Given the description of an element on the screen output the (x, y) to click on. 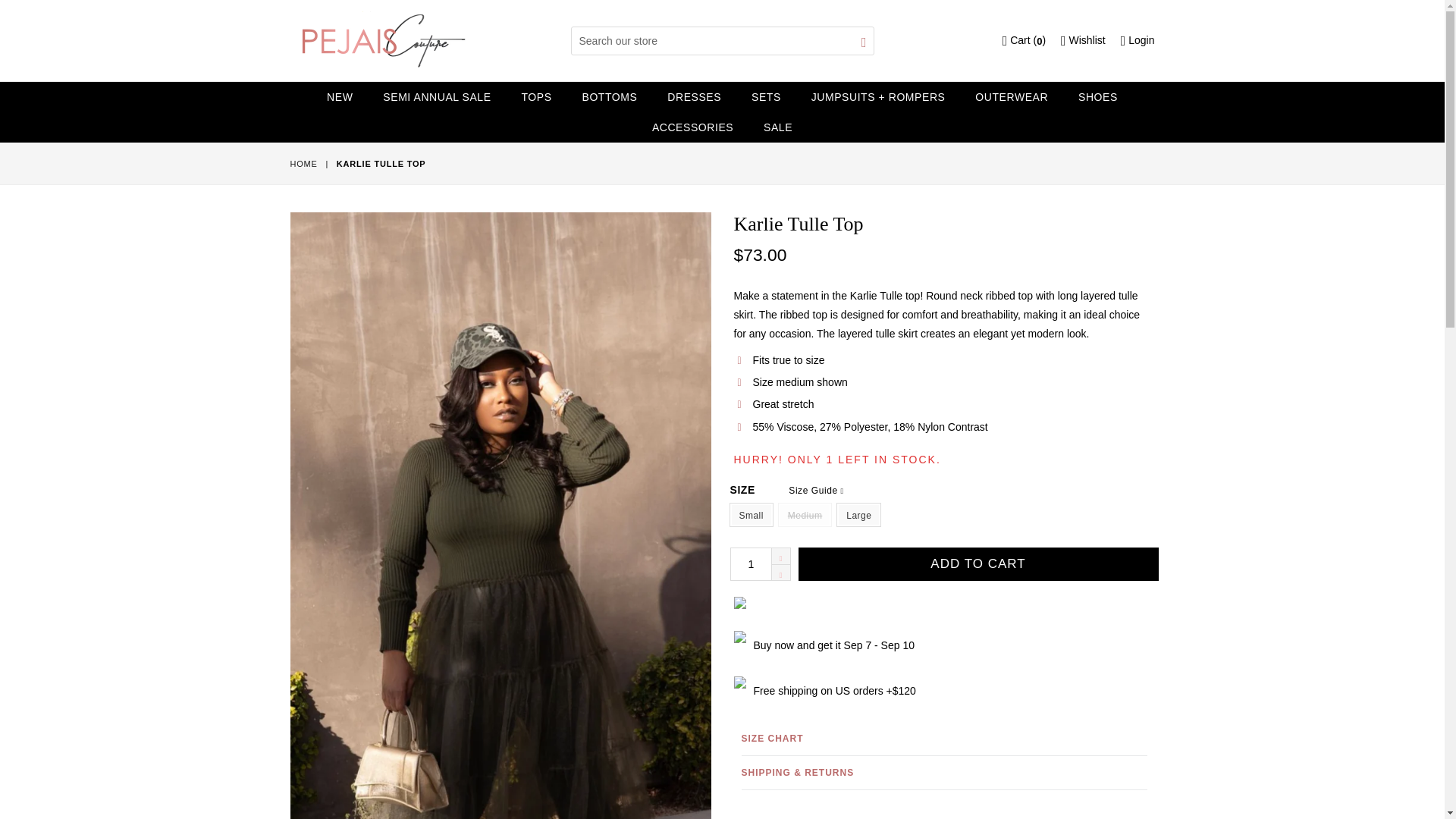
Login (1137, 40)
Cart (1024, 40)
Wishlist (1083, 40)
Back to the home page (303, 163)
1 (760, 563)
Wishlist (1083, 40)
Login (1137, 40)
